Given the description of an element on the screen output the (x, y) to click on. 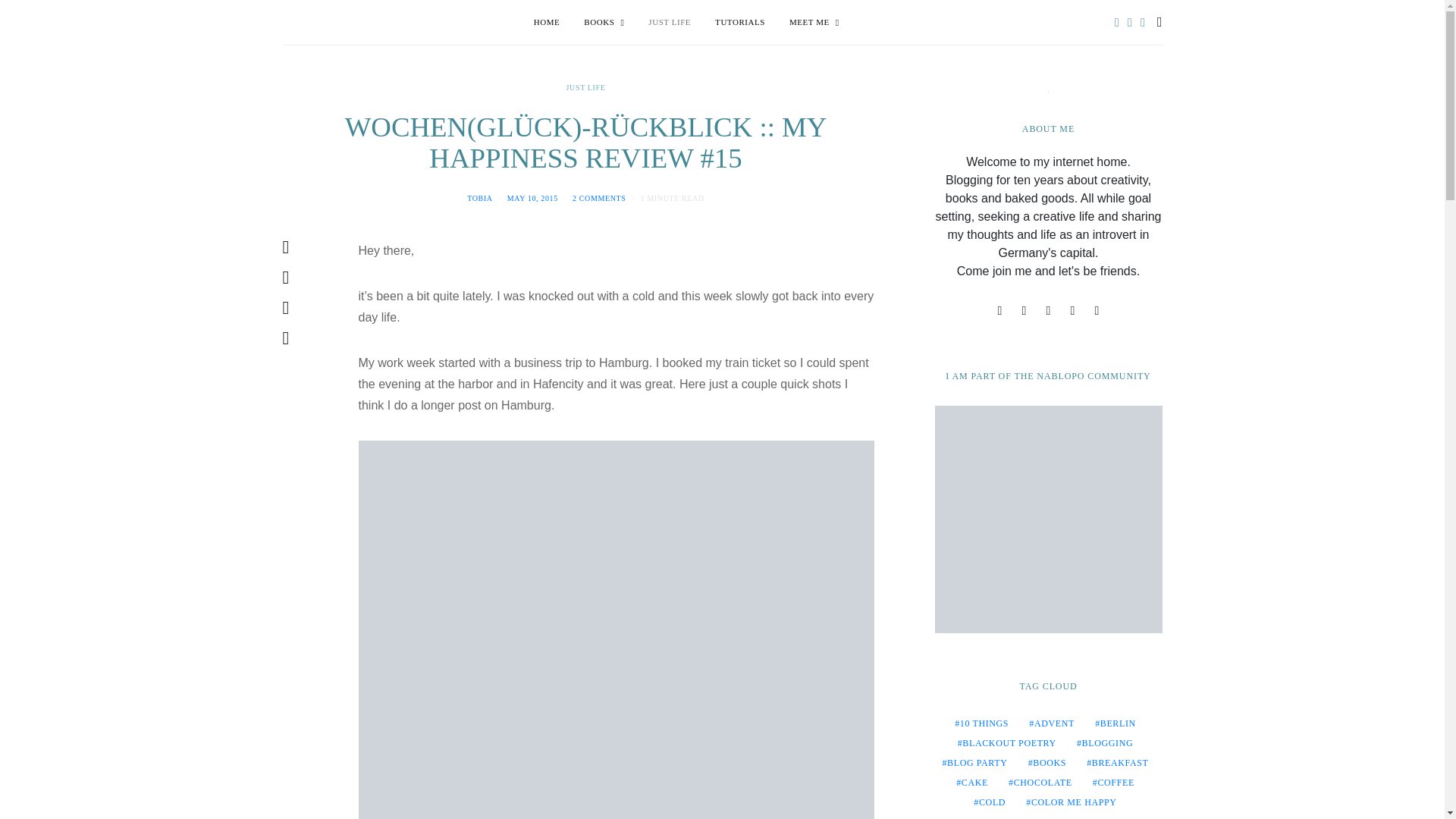
BOOKS (603, 22)
JUST LIFE (585, 87)
View all posts by Tobia (480, 198)
TOBIA (480, 198)
MEET ME (814, 22)
TUTORIALS (739, 22)
JUST LIFE (668, 22)
MAY 10, 2015 (531, 198)
2 COMMENTS (599, 198)
